Given the description of an element on the screen output the (x, y) to click on. 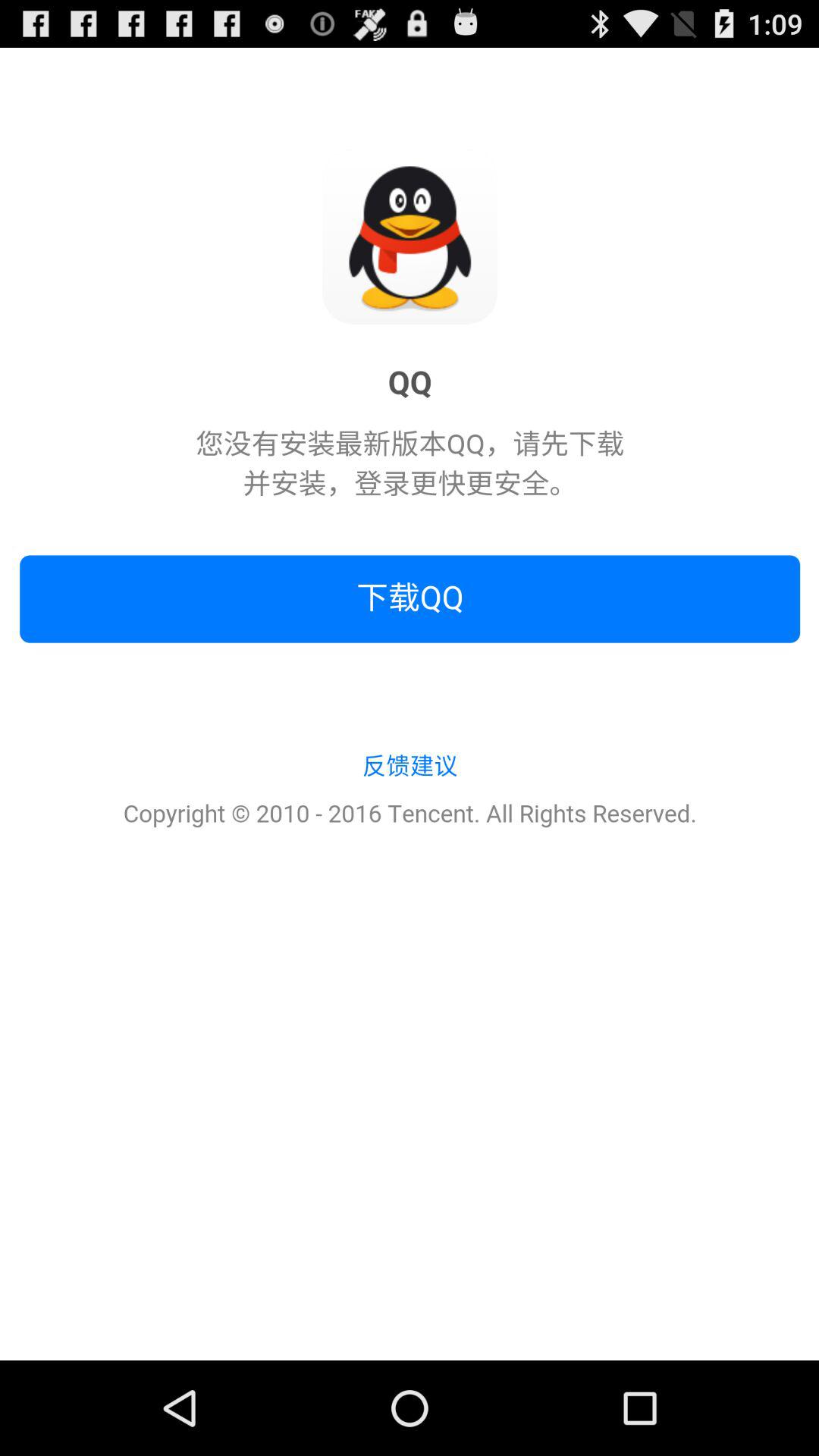
choose the icon at the center (409, 703)
